Given the description of an element on the screen output the (x, y) to click on. 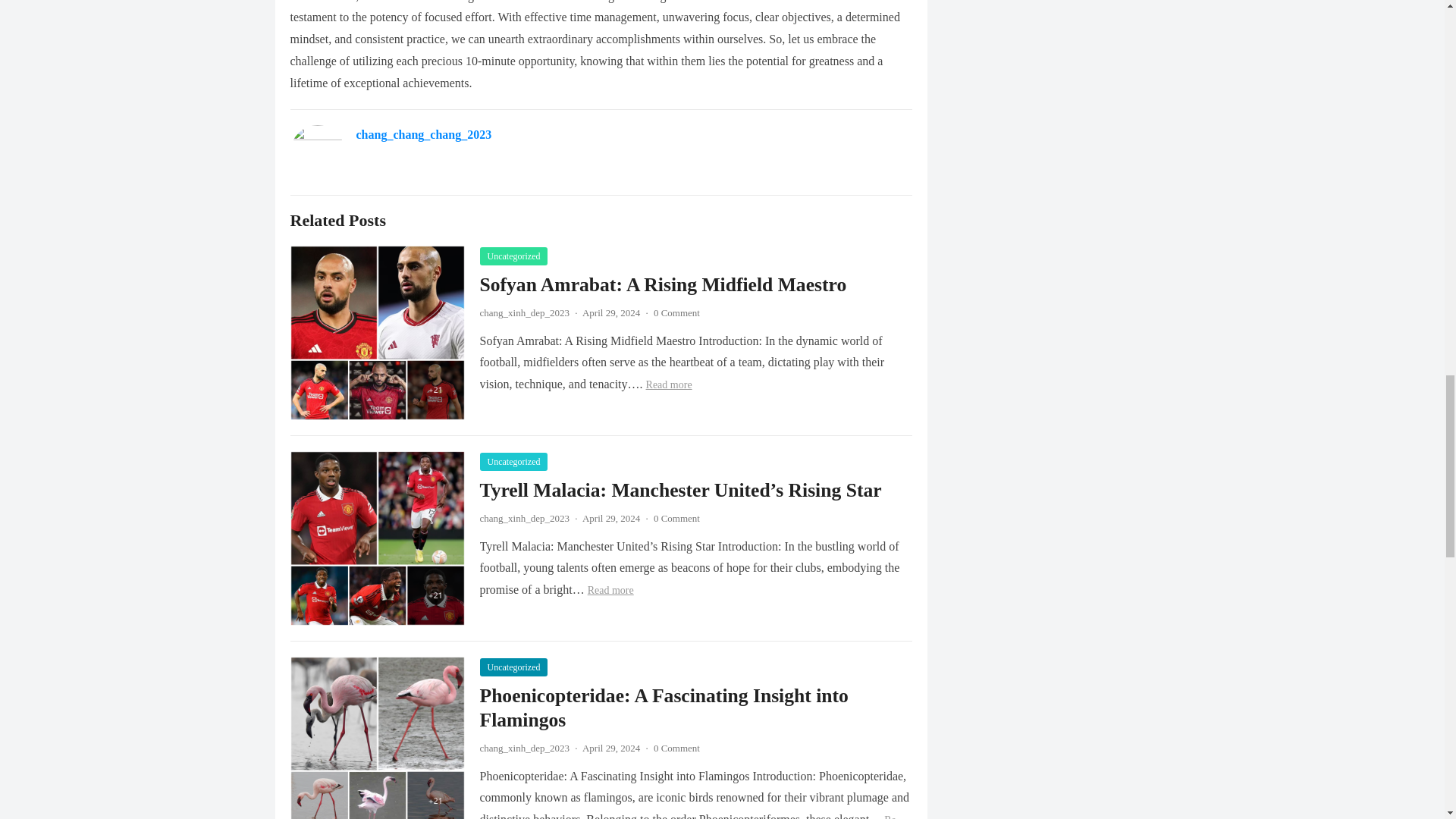
Uncategorized (513, 667)
Uncategorized (513, 461)
0 Comment (676, 312)
Read more (610, 590)
Sofyan Amrabat: A Rising Midfield Maestro (662, 284)
Read more (669, 384)
Uncategorized (513, 256)
0 Comment (676, 518)
Phoenicopteridae: A Fascinating Insight into Flamingos (663, 707)
